Given the description of an element on the screen output the (x, y) to click on. 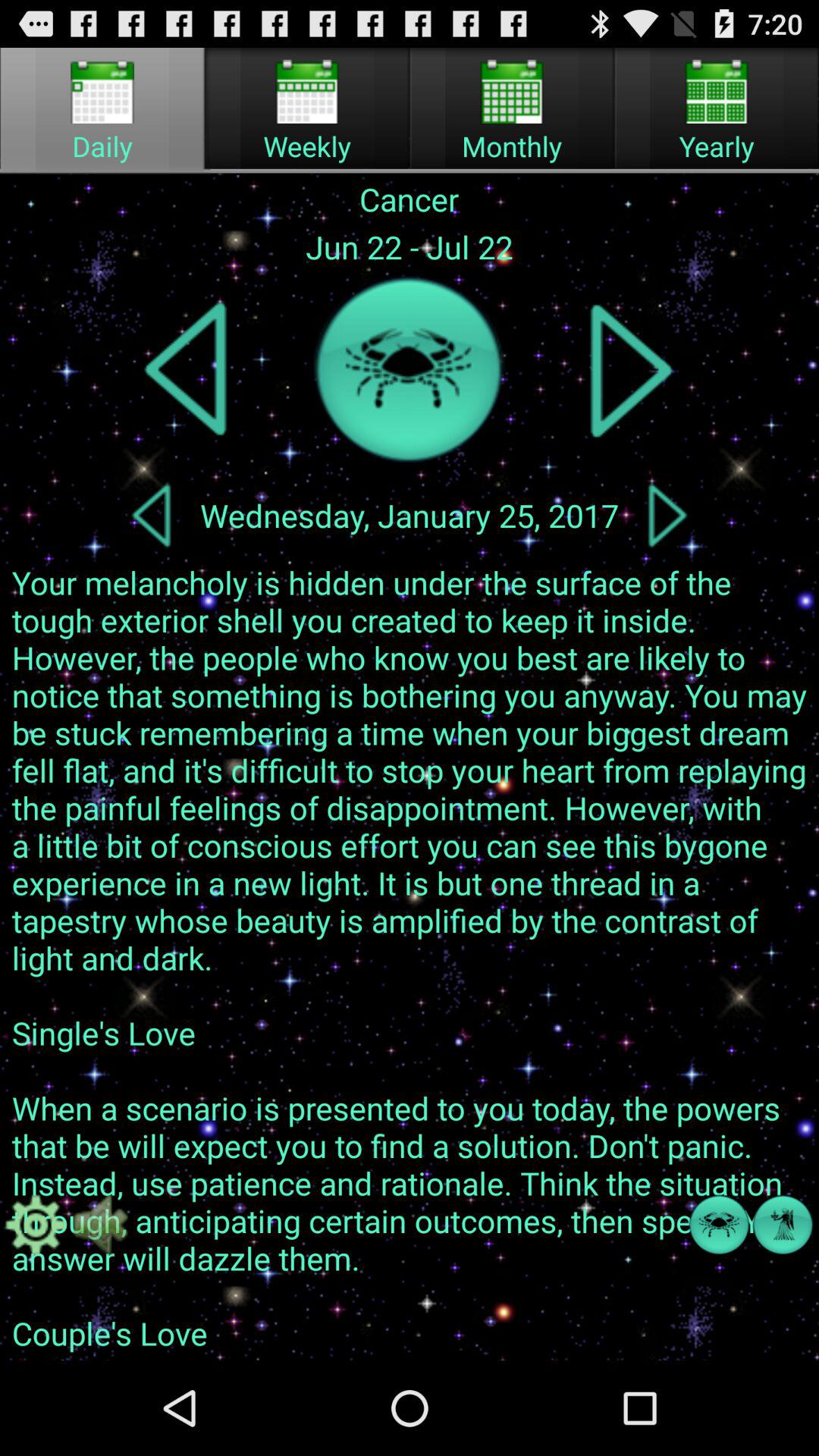
go forward (631, 369)
